Given the description of an element on the screen output the (x, y) to click on. 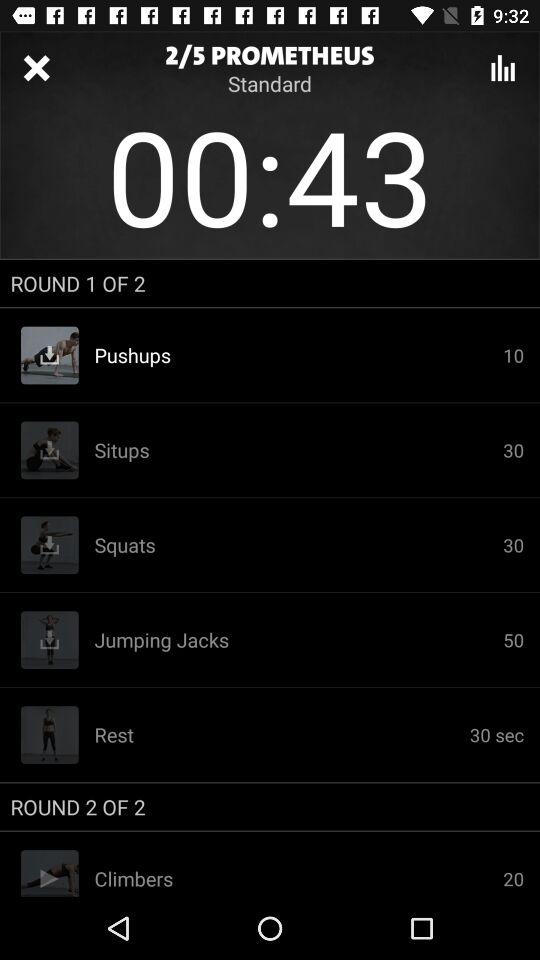
click the icon next to 30 item (298, 545)
